Given the description of an element on the screen output the (x, y) to click on. 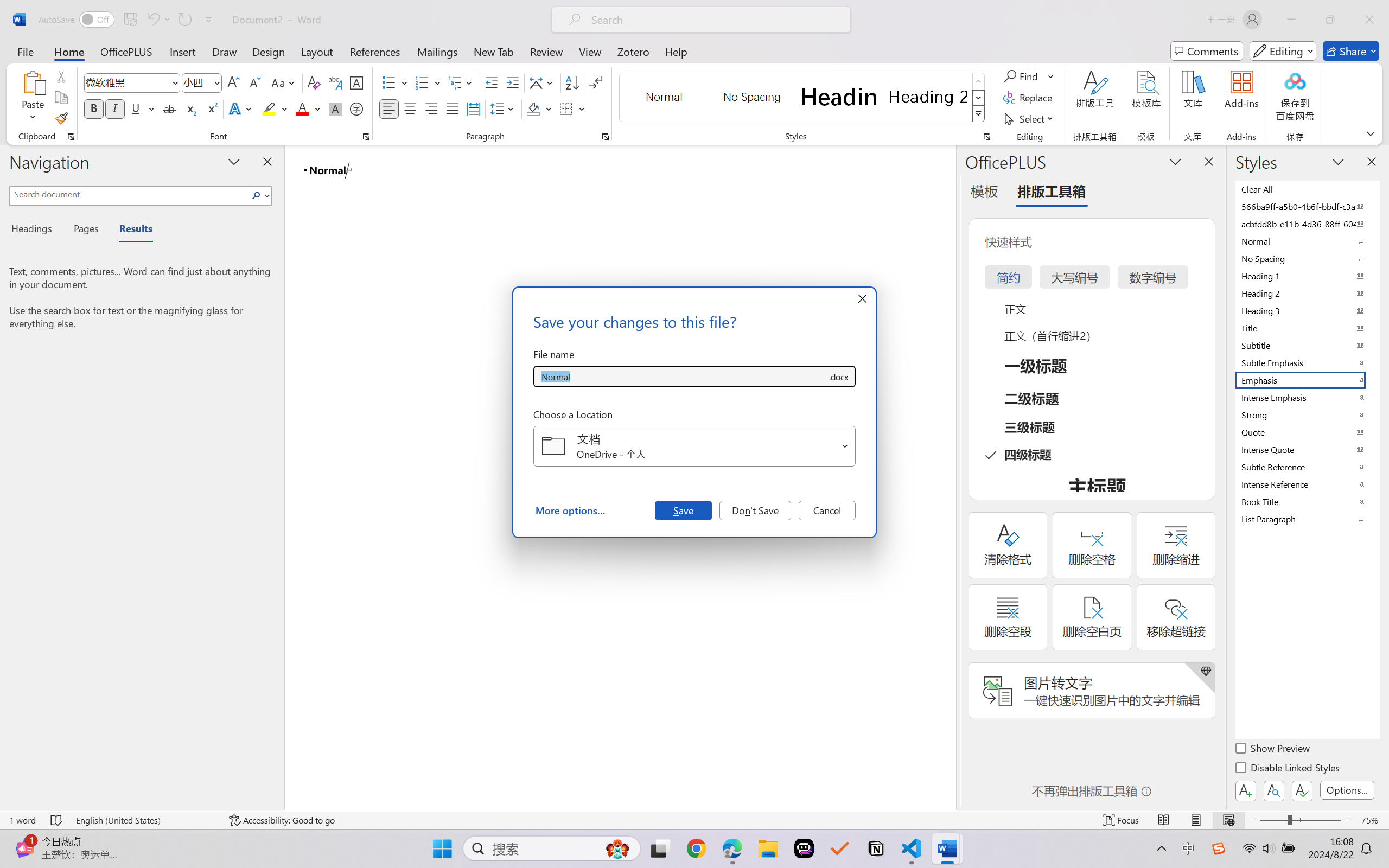
Insert (182, 51)
Row up (978, 81)
Subtle Reference (1306, 466)
Zoom (1300, 819)
Layout (316, 51)
Intense Quote (1306, 449)
Word Count 1 word (21, 819)
List Paragraph (1306, 518)
View (589, 51)
Save (682, 509)
Mode (1283, 50)
Class: NetUIImage (978, 114)
